Given the description of an element on the screen output the (x, y) to click on. 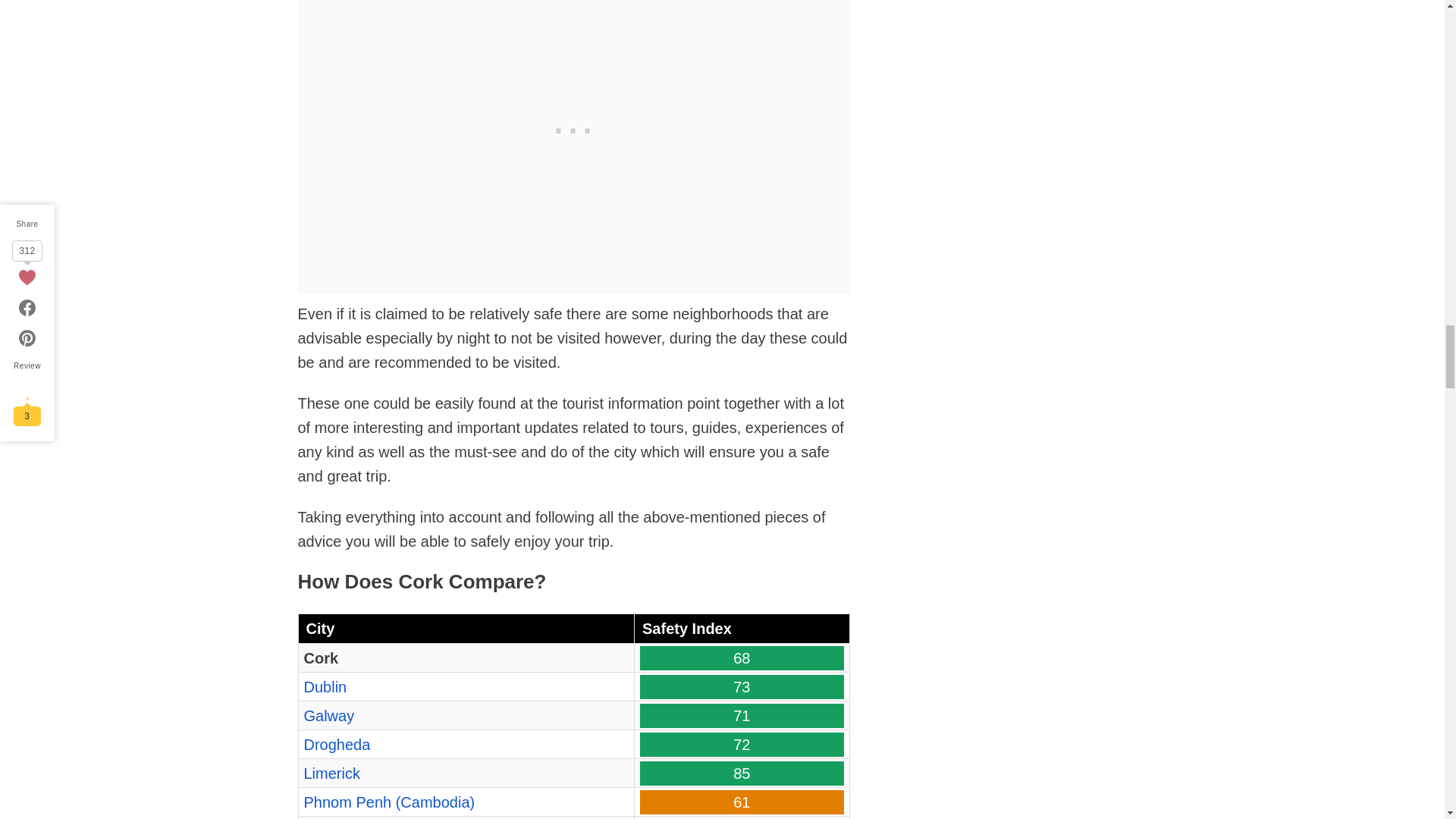
Galway (327, 715)
Dublin (324, 686)
Drogheda (335, 744)
Drogheda Safety Review (335, 744)
Limerick Safety Review (330, 773)
Limerick (330, 773)
Phnom Penh Safety Review (388, 801)
Galway Safety Review (327, 715)
Dublin Safety Review (324, 686)
